Given the description of an element on the screen output the (x, y) to click on. 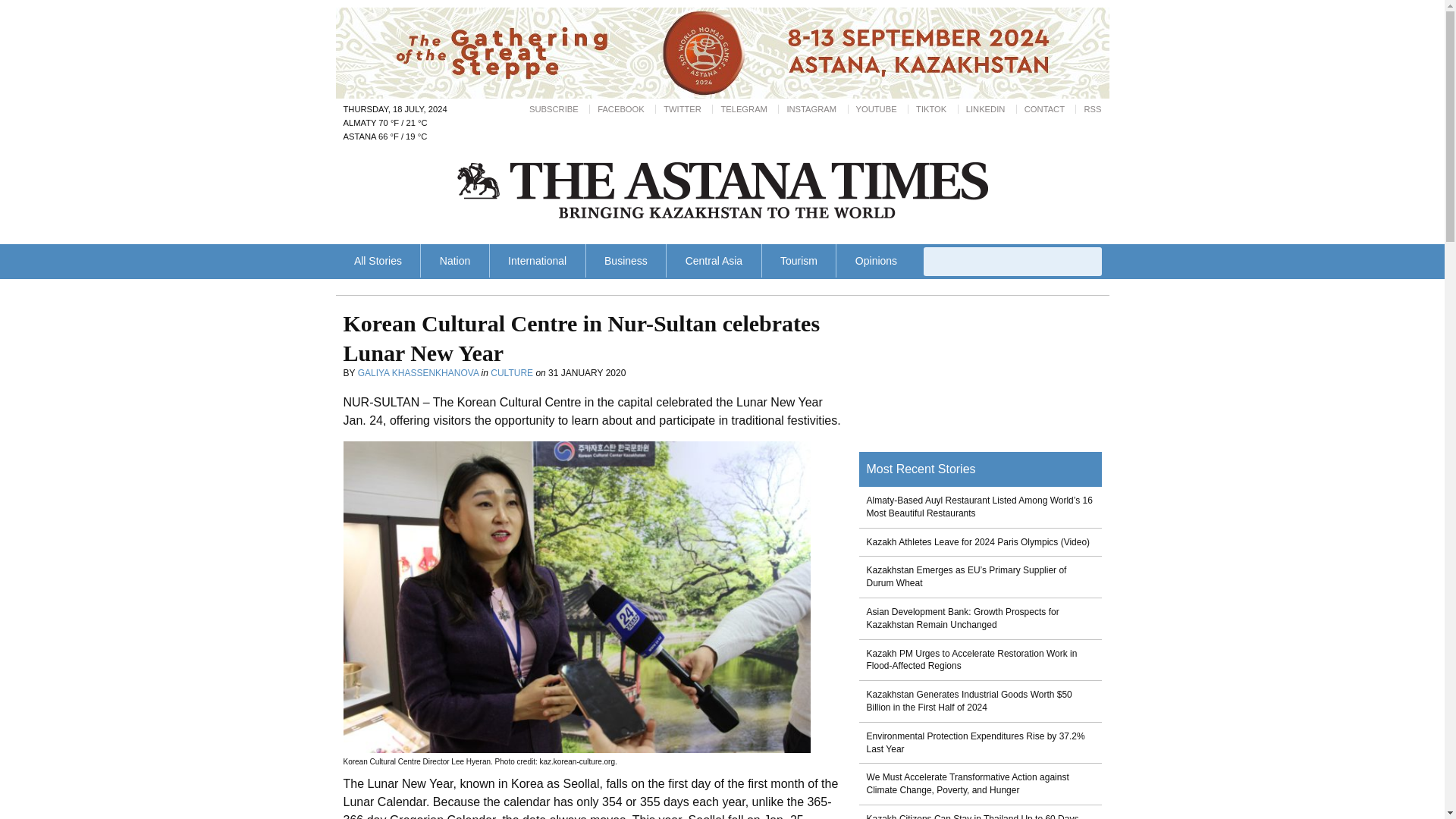
CONTACT (1044, 108)
YOUTUBE (876, 108)
TWITTER (682, 108)
TIKTOK (930, 108)
FACEBOOK (620, 108)
INSTAGRAM (810, 108)
TELEGRAM (743, 108)
SUBSCRIBE (553, 108)
LINKEDIN (986, 108)
RSS (1091, 108)
